Given the description of an element on the screen output the (x, y) to click on. 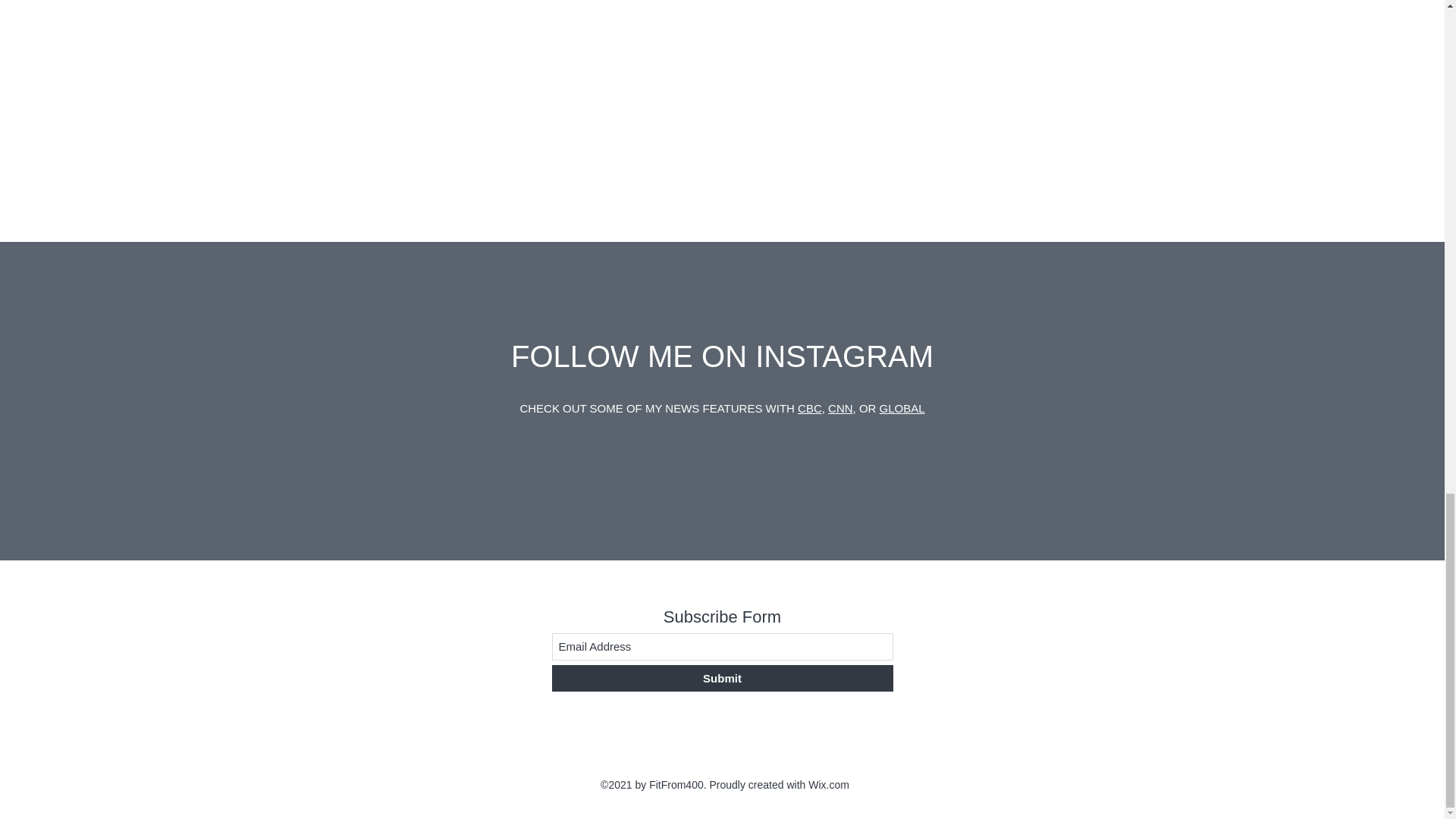
Submit (722, 678)
GLOBAL (901, 408)
CBC (809, 408)
CNN (840, 408)
